Given the description of an element on the screen output the (x, y) to click on. 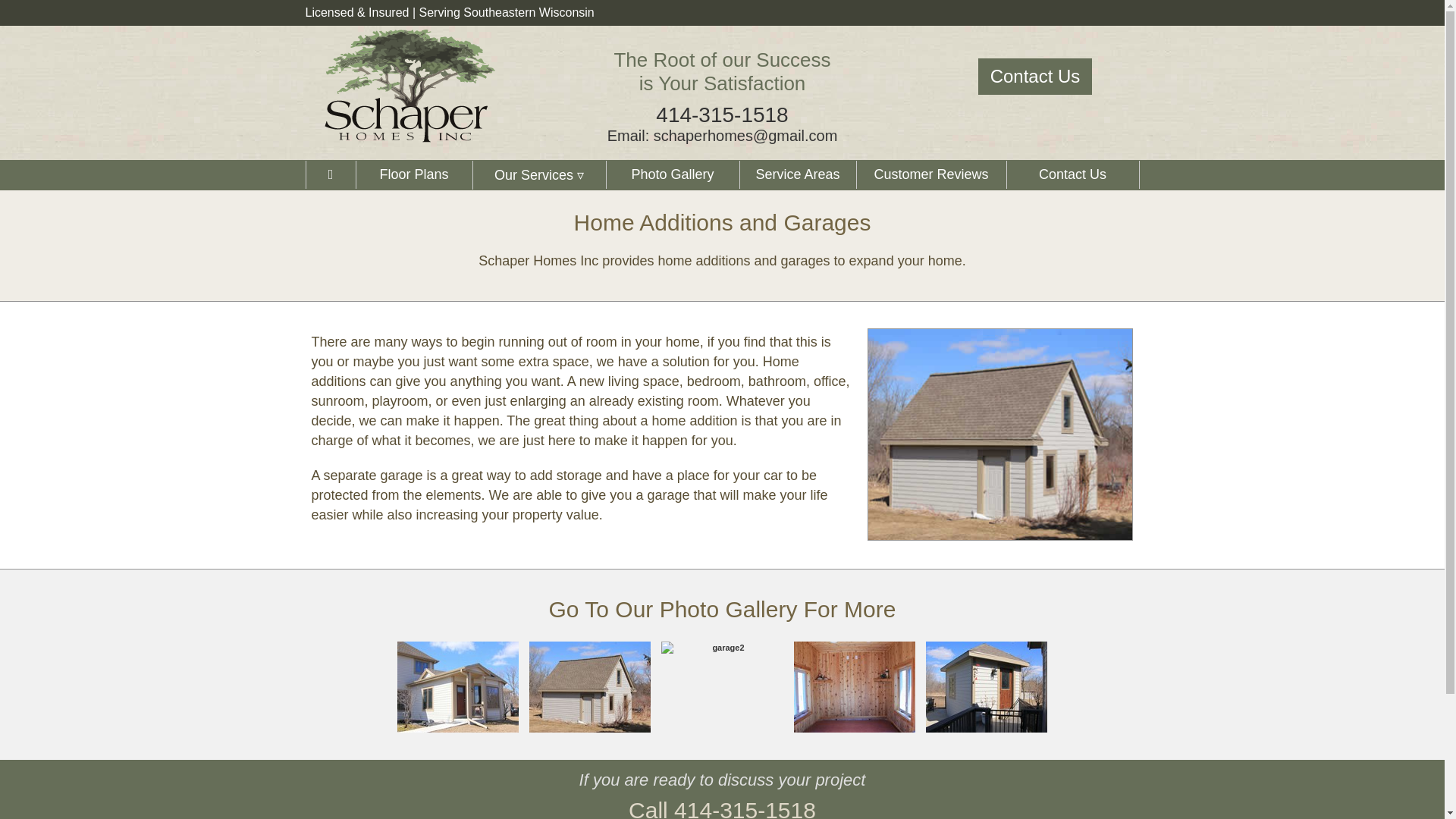
Photo Gallery (671, 174)
Home Construction and Building (409, 85)
Service Areas (797, 174)
Photo Gallery (728, 609)
Contact Schaper Homes Inc (1072, 174)
Schaper Homes Inc (329, 174)
Customer Reviews (931, 174)
414-315-1518 (721, 114)
Floor Plans (671, 174)
Contact Us (1072, 174)
